Given the description of an element on the screen output the (x, y) to click on. 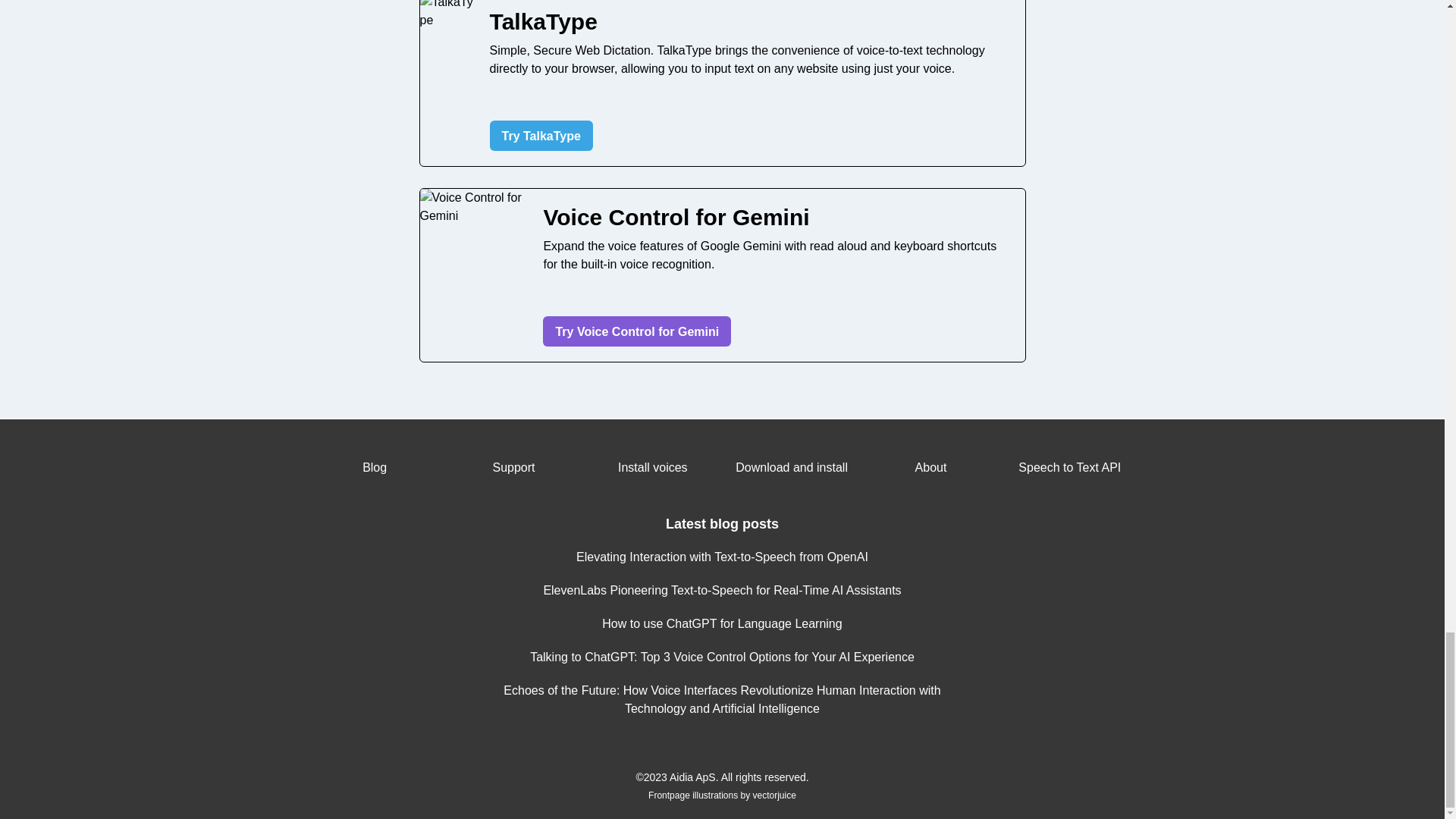
About (930, 467)
Support (513, 467)
Frontpage illustrations by vectorjuice (721, 795)
Try TalkaType (540, 135)
Download and install (791, 467)
How to use ChatGPT for Language Learning (722, 624)
Try Voice Control for Gemini (636, 331)
Elevating Interaction with Text-to-Speech from OpenAI (722, 556)
Install voices (652, 467)
Blog (374, 467)
Speech to Text API (1069, 467)
